Given the description of an element on the screen output the (x, y) to click on. 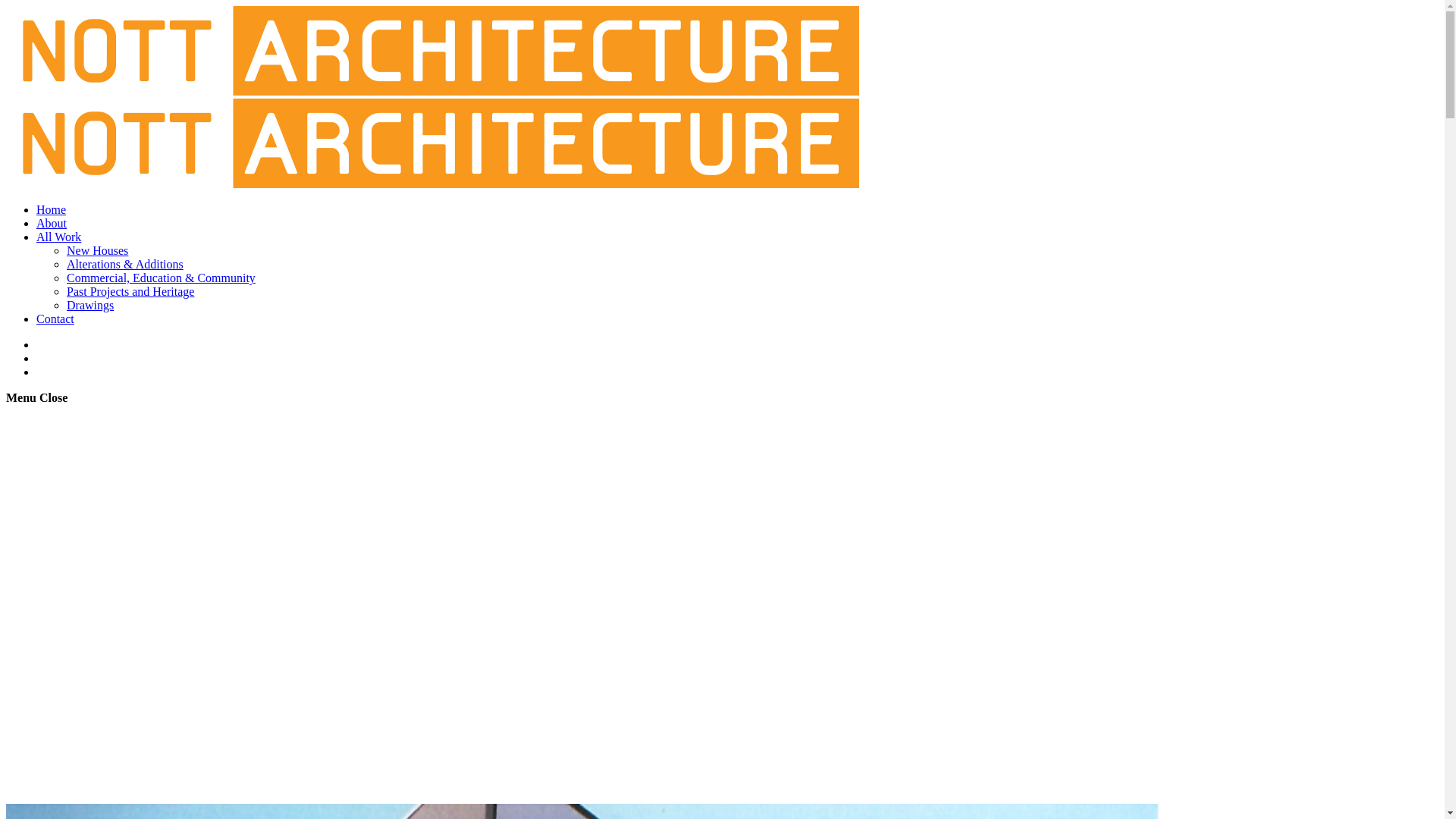
Past Projects and Heritage Element type: text (130, 291)
New Houses Element type: text (97, 250)
Drawings Element type: text (89, 304)
Contact Element type: text (55, 318)
Nott Architecture Element type: hover (432, 137)
Home Element type: text (50, 209)
Alterations & Additions Element type: text (124, 263)
All Work Element type: text (58, 236)
About Element type: text (51, 222)
Commercial, Education & Community Element type: text (160, 277)
